Given the description of an element on the screen output the (x, y) to click on. 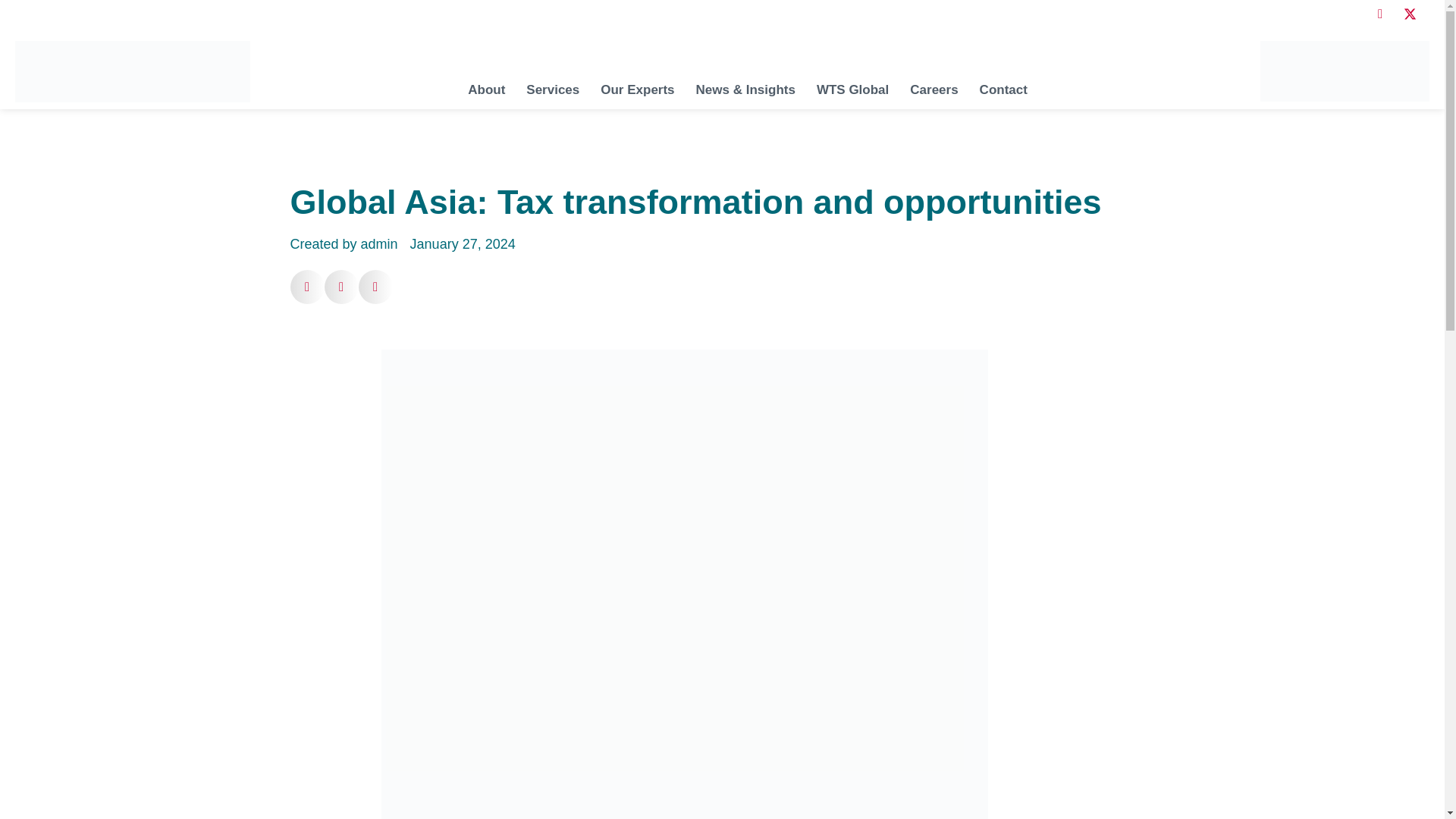
Contact (1003, 89)
Services (553, 89)
Our Experts (637, 89)
January 27, 2024 (462, 244)
Created by admin (343, 244)
WTS Global (852, 89)
About (486, 89)
Careers (933, 89)
